Given the description of an element on the screen output the (x, y) to click on. 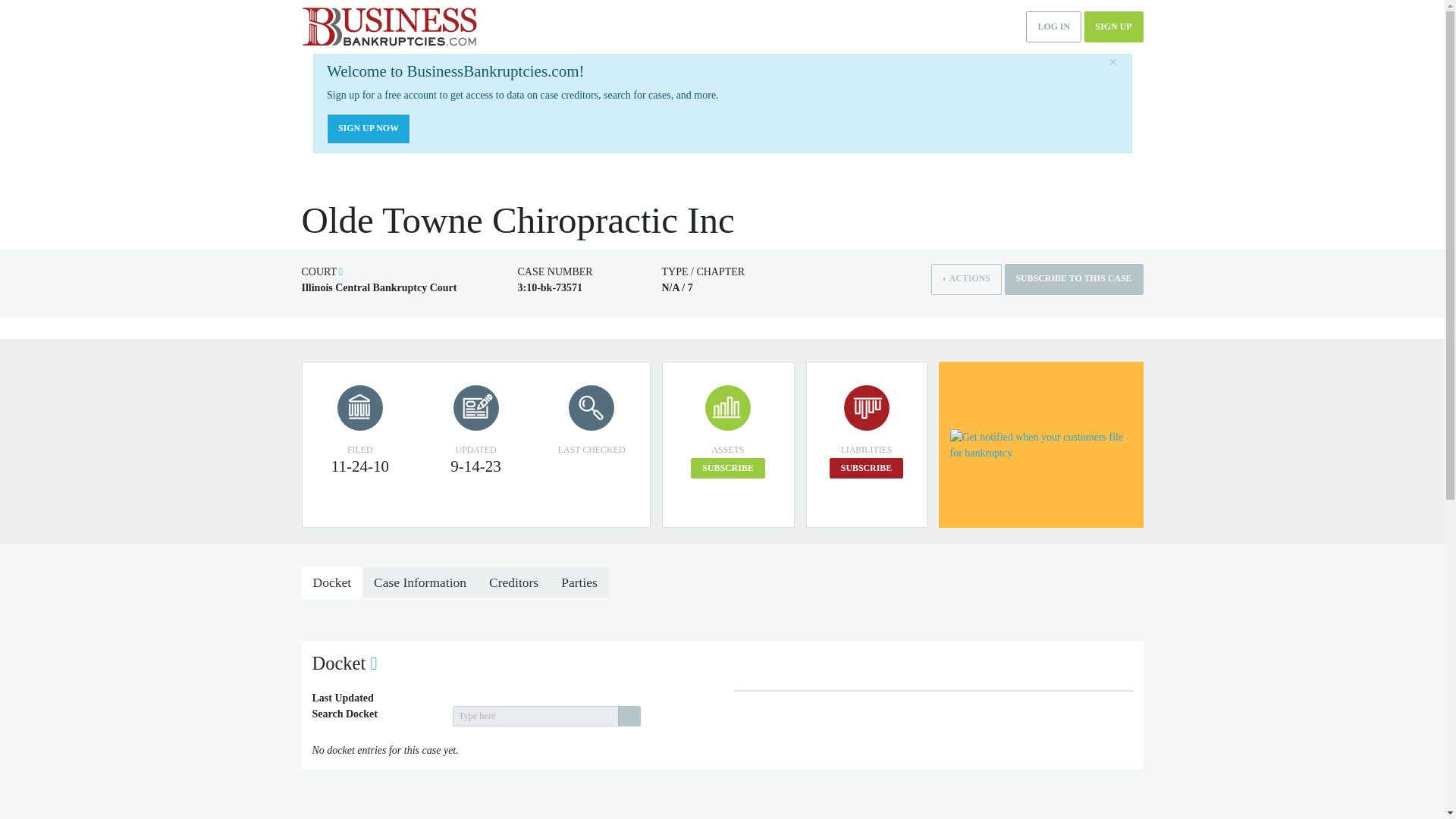
LOG IN (1053, 26)
Parties (579, 582)
Business Bankruptcies (389, 26)
SIGN UP (1113, 26)
SUBSCRIBE (727, 467)
SUBSCRIBE (865, 467)
SIGN UP NOW (368, 128)
SUBSCRIBE TO THIS CASE (1073, 278)
Creditors (513, 582)
Subscribe for Access (865, 467)
Subscribe for Access (727, 467)
Docket (331, 582)
Case Information (419, 582)
ACTIONS (966, 278)
Get notified when your customers file for bankruptcy (1040, 445)
